Given the description of an element on the screen output the (x, y) to click on. 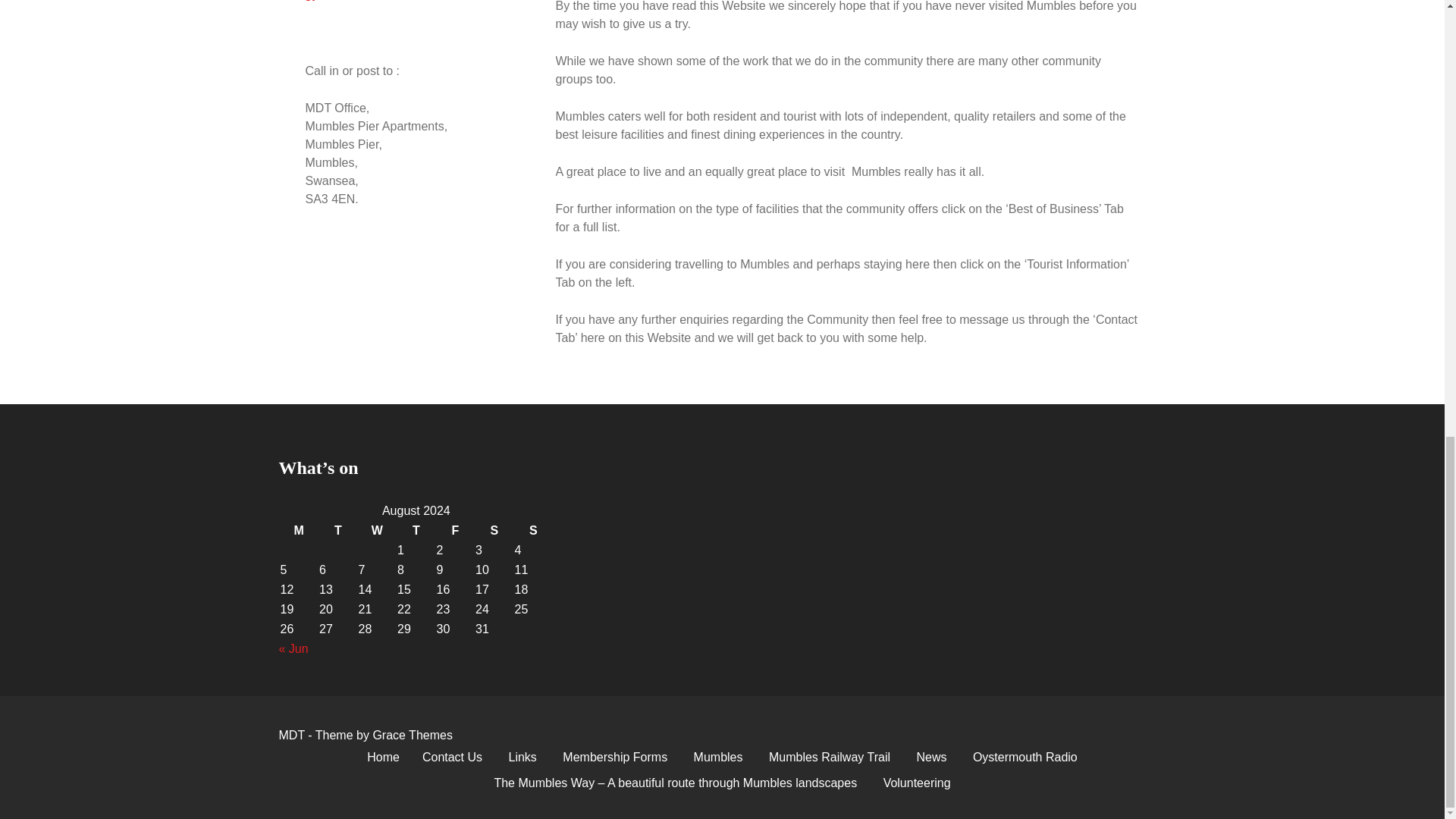
Thursday (416, 530)
Oystermouth Radio (1024, 757)
Sunday (534, 530)
Contact Us (451, 757)
Volunteering (917, 783)
Saturday (494, 530)
News (931, 757)
Membership Forms (614, 757)
Links (522, 757)
Wednesday (377, 530)
